Given the description of an element on the screen output the (x, y) to click on. 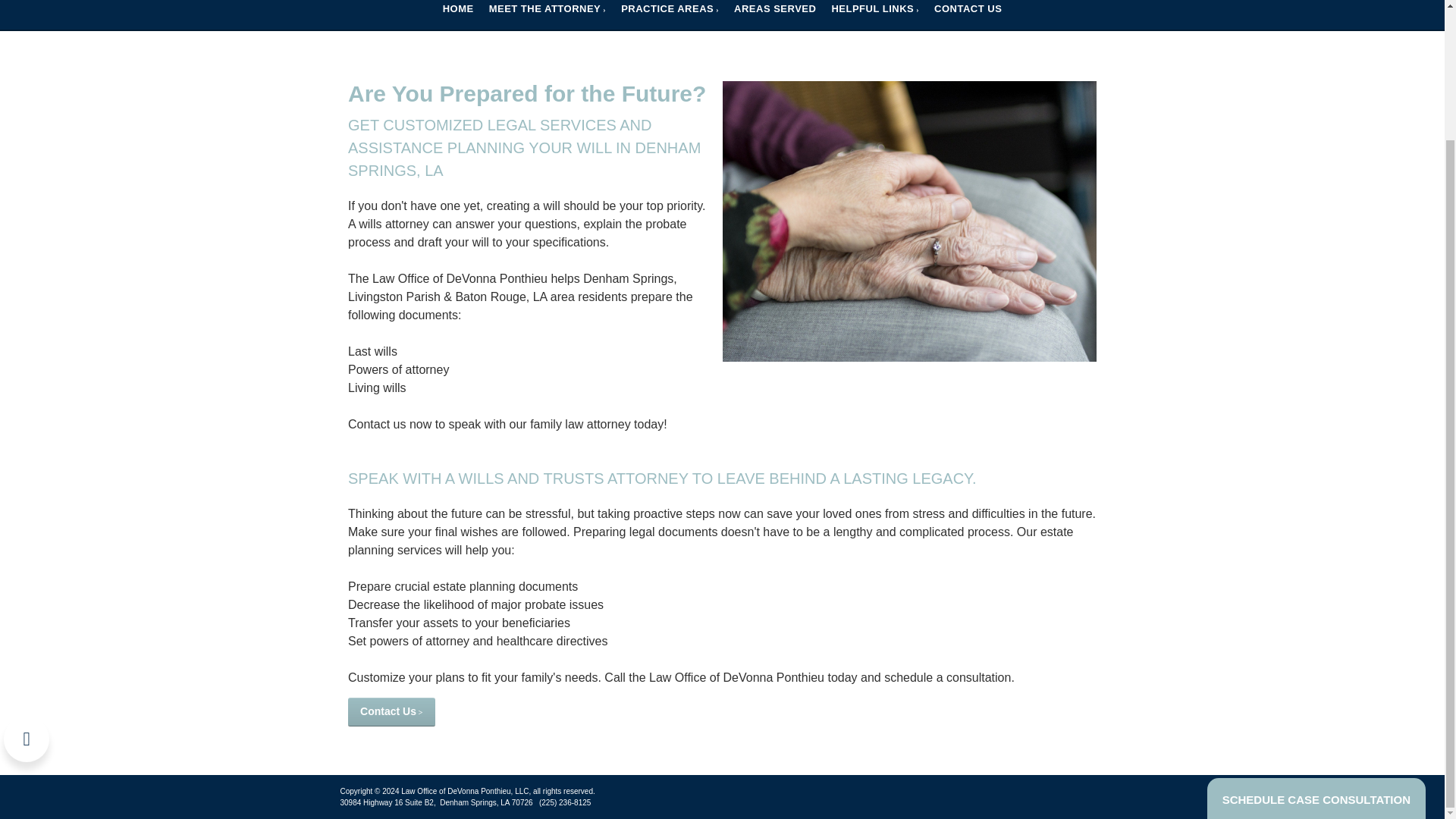
CONTACT US (967, 11)
AREAS SERVED (775, 11)
HOME (458, 11)
